Given the description of an element on the screen output the (x, y) to click on. 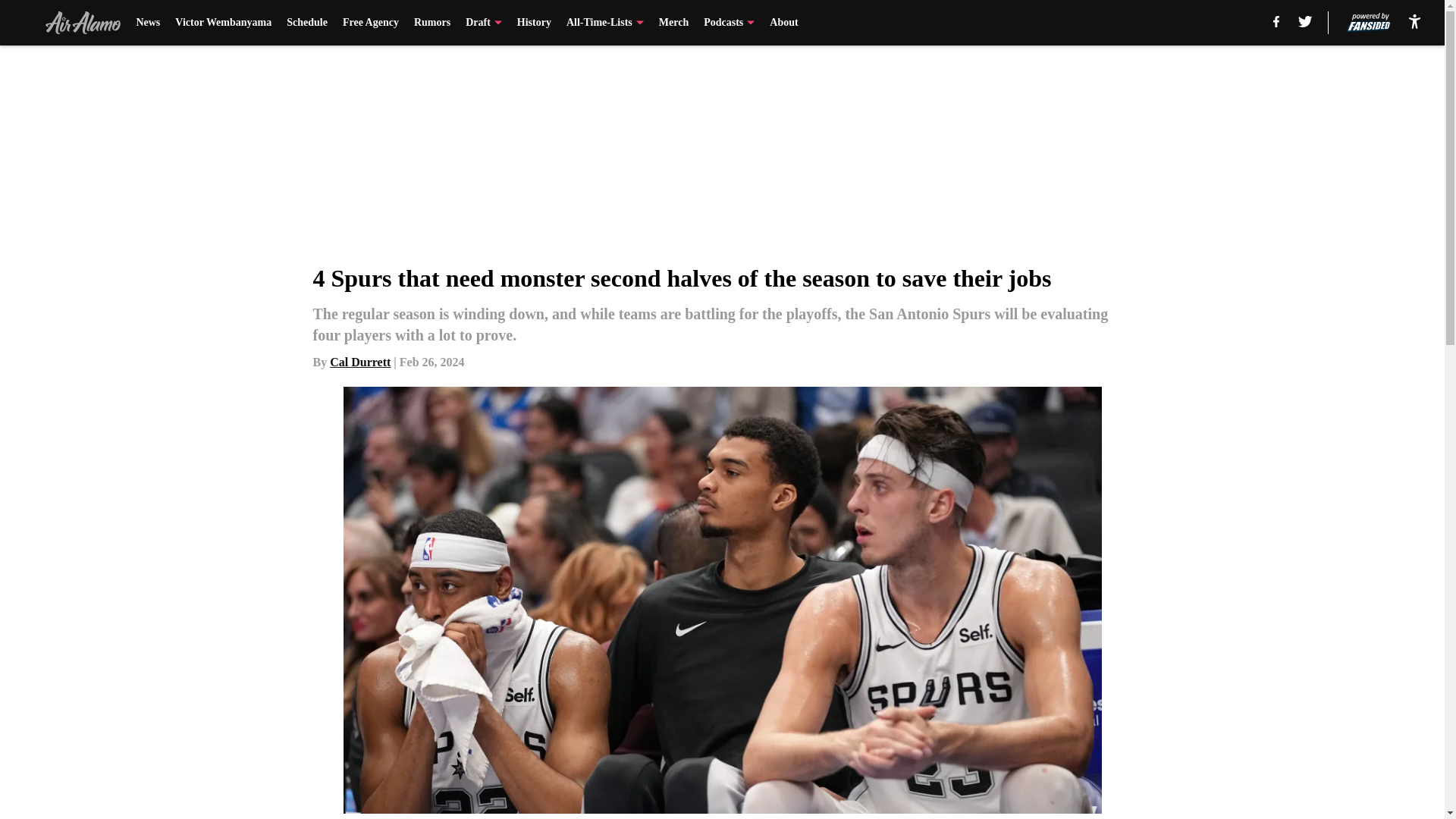
Draft (483, 22)
History (533, 22)
About (783, 22)
Free Agency (370, 22)
Cal Durrett (360, 361)
Victor Wembanyama (222, 22)
Schedule (306, 22)
News (147, 22)
Merch (673, 22)
Rumors (431, 22)
